Given the description of an element on the screen output the (x, y) to click on. 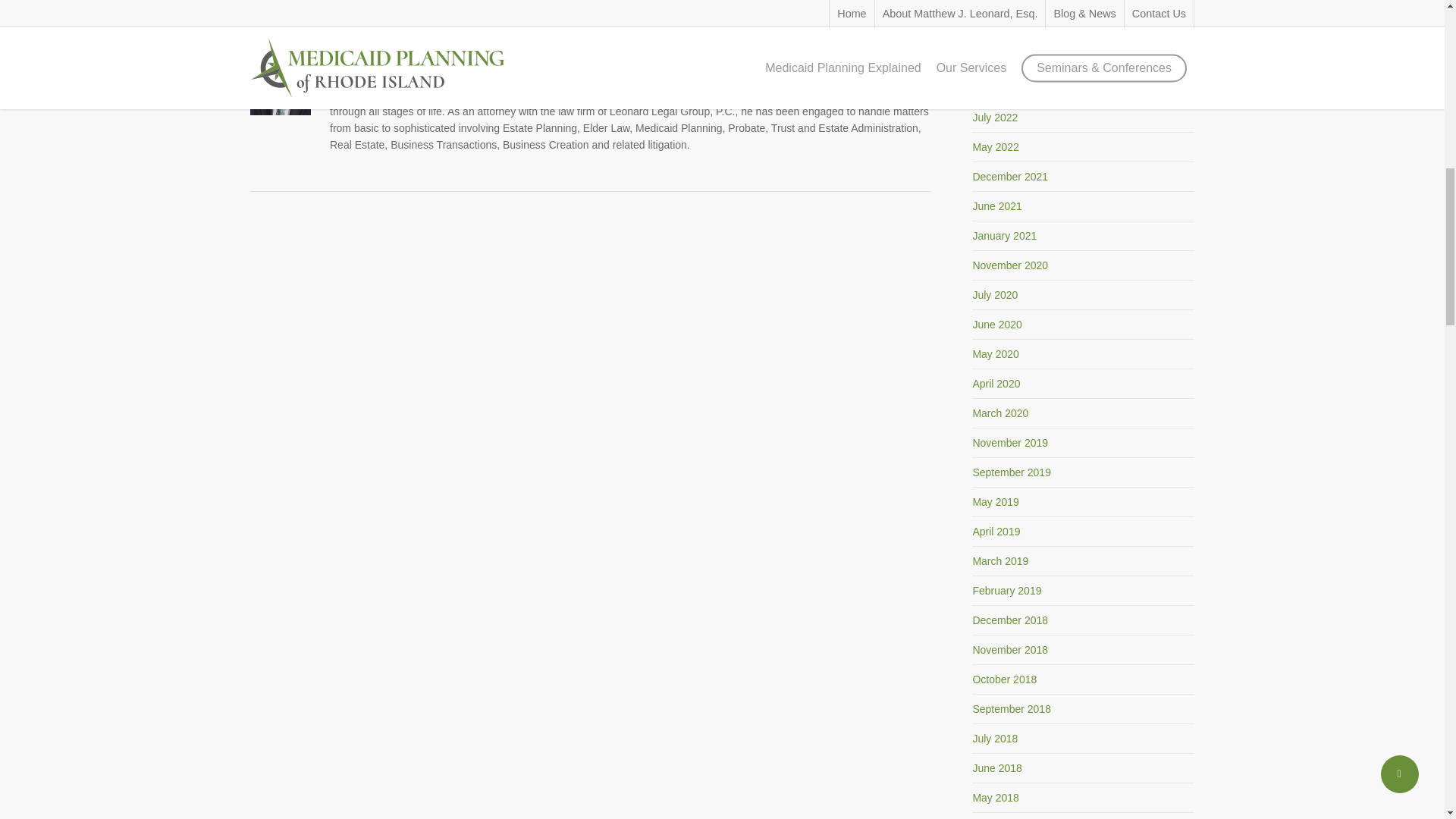
April 2020 (996, 383)
May 2022 (994, 146)
January 2021 (1004, 235)
December 2021 (1010, 176)
June 2021 (997, 205)
May 2020 (994, 354)
May 2023 (994, 28)
June 2020 (997, 324)
October 2023 (1004, 2)
July 2022 (994, 117)
